Given the description of an element on the screen output the (x, y) to click on. 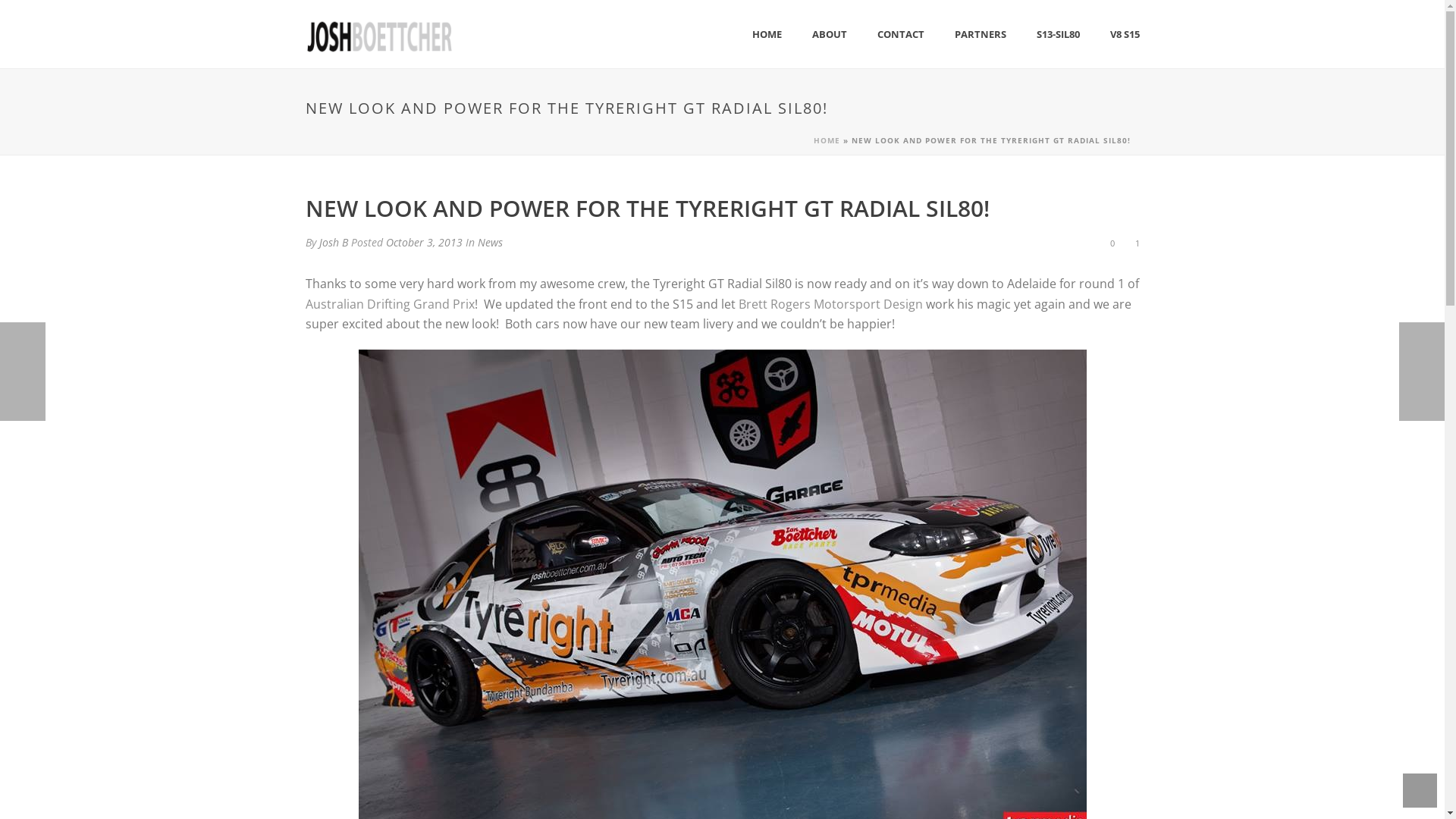
HOME Element type: text (767, 34)
PARTNERS Element type: text (979, 34)
  1 Element type: text (1134, 242)
October 3, 2013 Element type: text (423, 242)
Josh B Element type: text (332, 242)
0 Element type: text (1109, 242)
V8 S15 Element type: text (1124, 34)
Australian Drifting Grand Prix Element type: text (388, 303)
News Element type: text (489, 242)
Brett Rogers Motorsport Design Element type: text (830, 303)
ABOUT Element type: text (828, 34)
HOME Element type: text (825, 139)
CONTACT Element type: text (899, 34)
S13-SIL80 Element type: text (1057, 34)
